Given the description of an element on the screen output the (x, y) to click on. 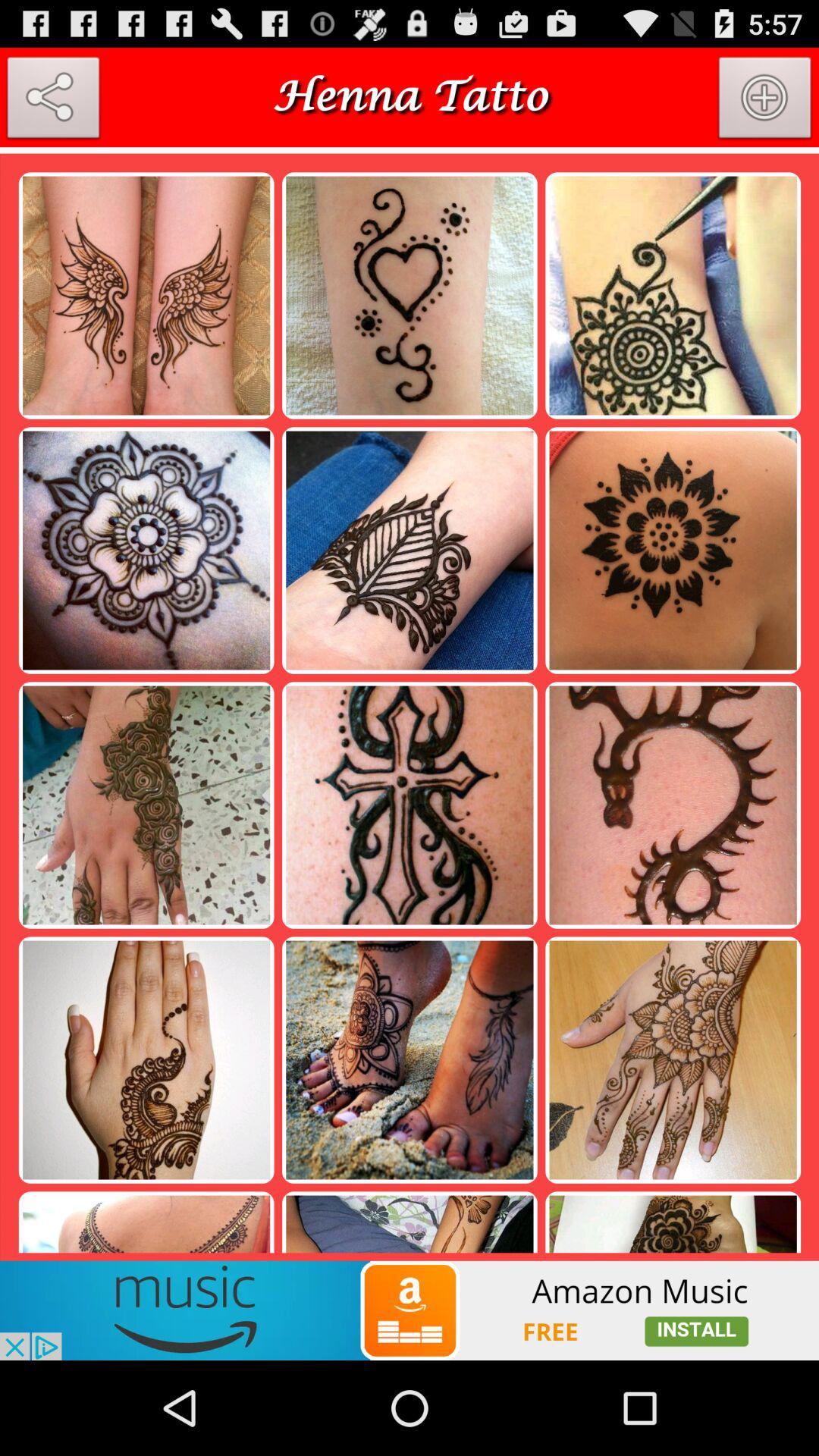
tattoos (409, 150)
